Given the description of an element on the screen output the (x, y) to click on. 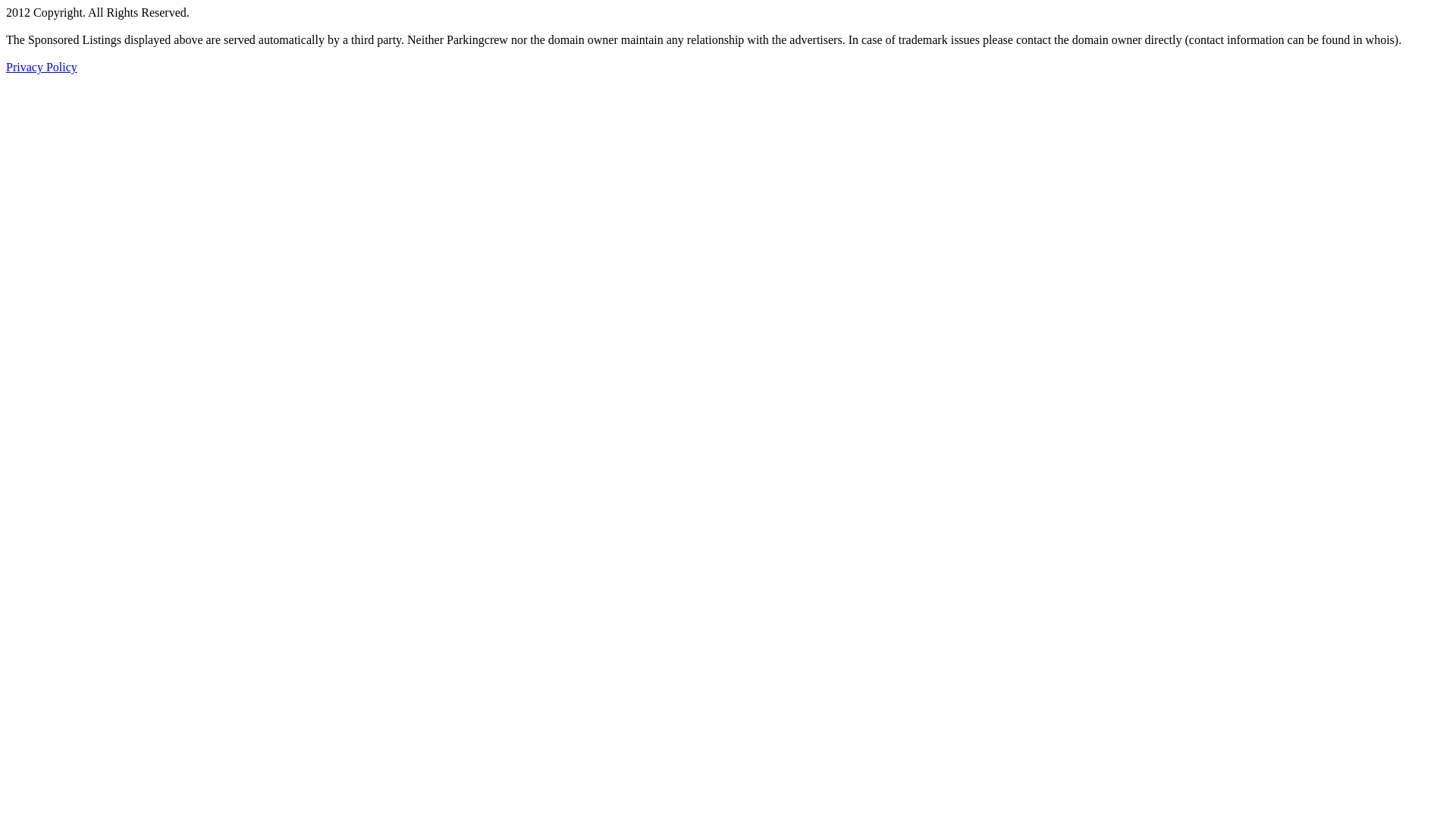
Privacy Policy Element type: text (41, 66)
